Given the description of an element on the screen output the (x, y) to click on. 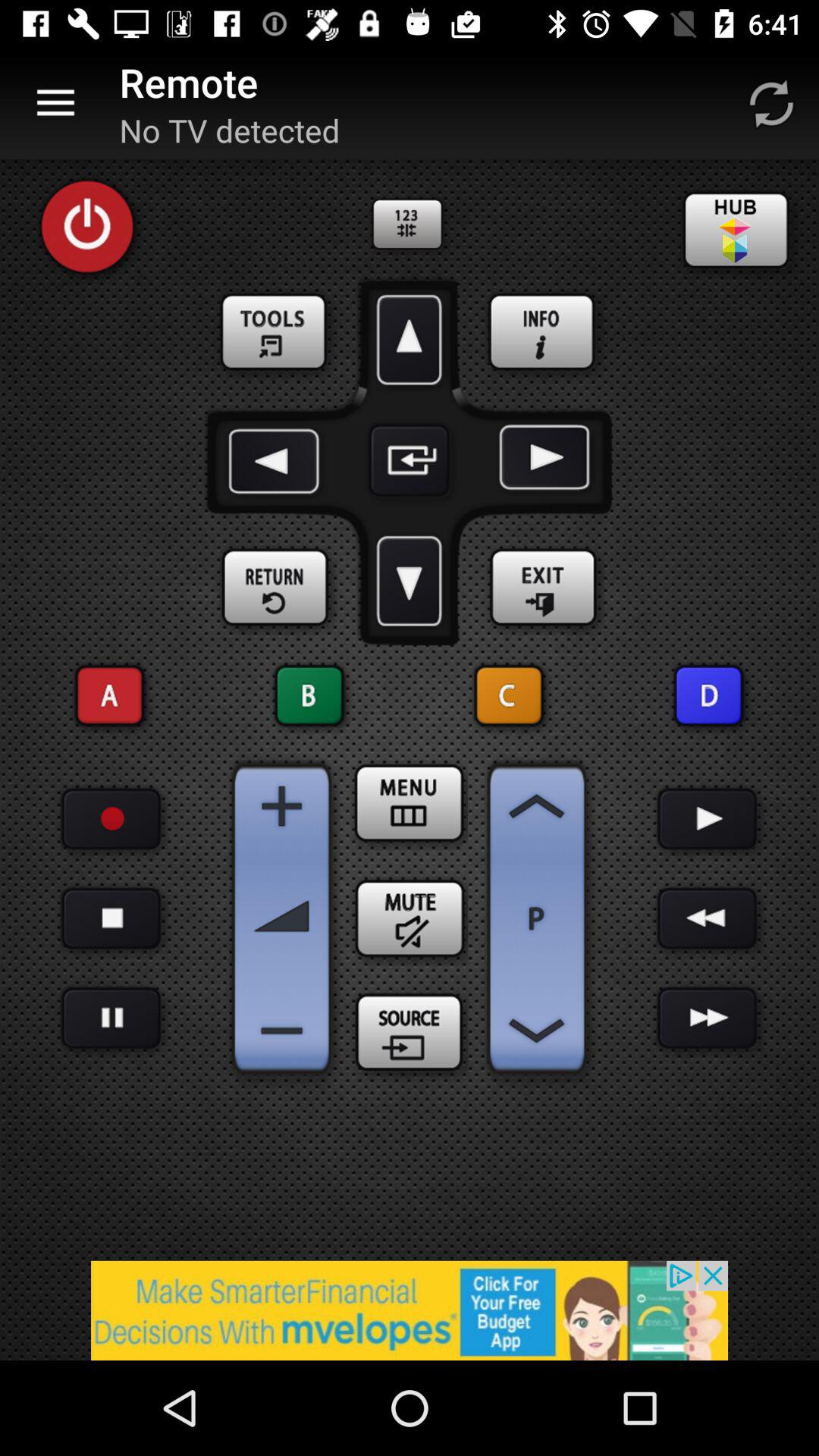
exit button (542, 588)
